Given the description of an element on the screen output the (x, y) to click on. 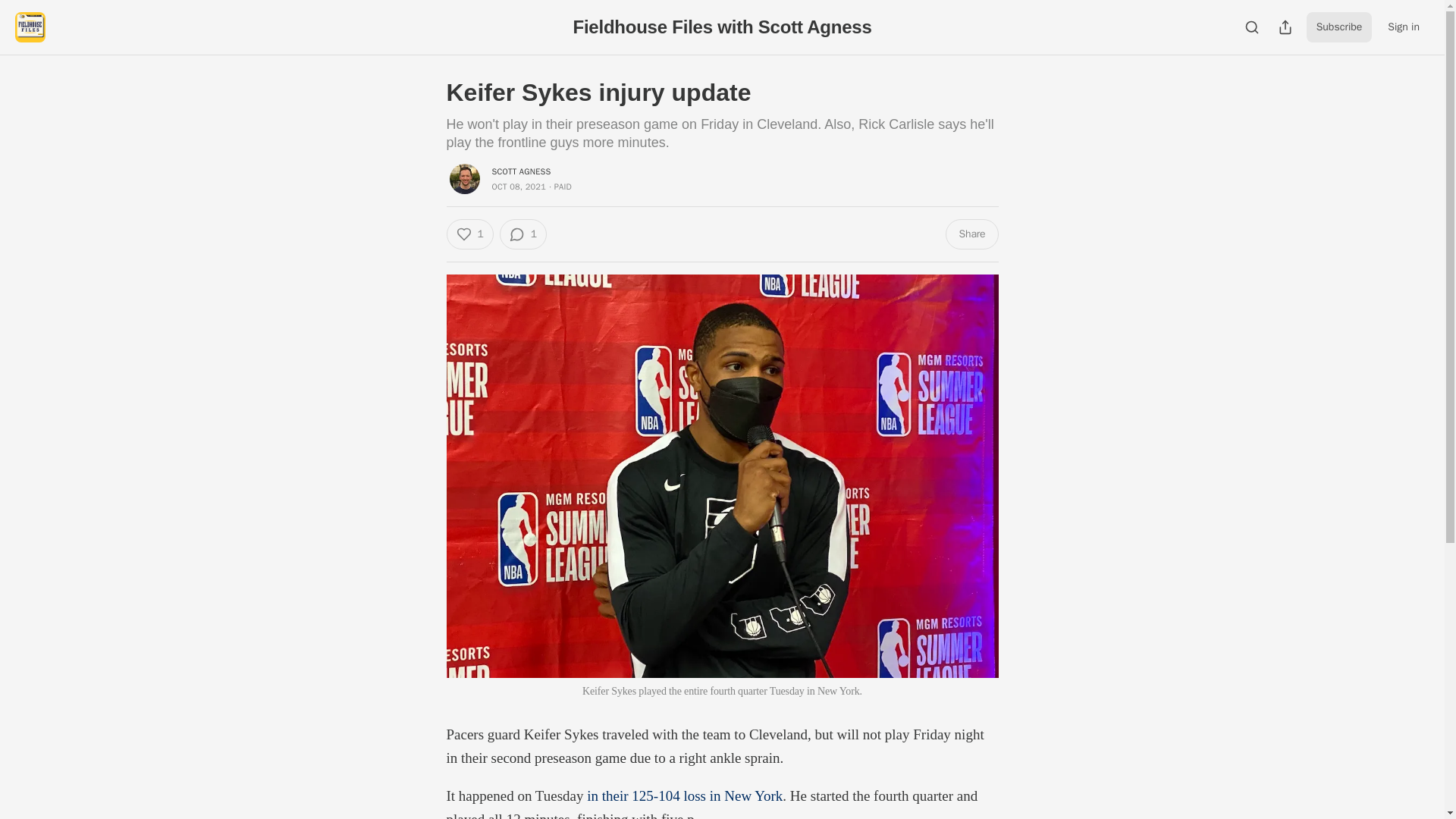
1 (523, 234)
Share (970, 234)
Subscribe (1339, 27)
1 (469, 234)
SCOTT AGNESS (521, 171)
in their 125-104 loss in New York (684, 795)
Sign in (1403, 27)
Fieldhouse Files with Scott Agness (721, 26)
